Given the description of an element on the screen output the (x, y) to click on. 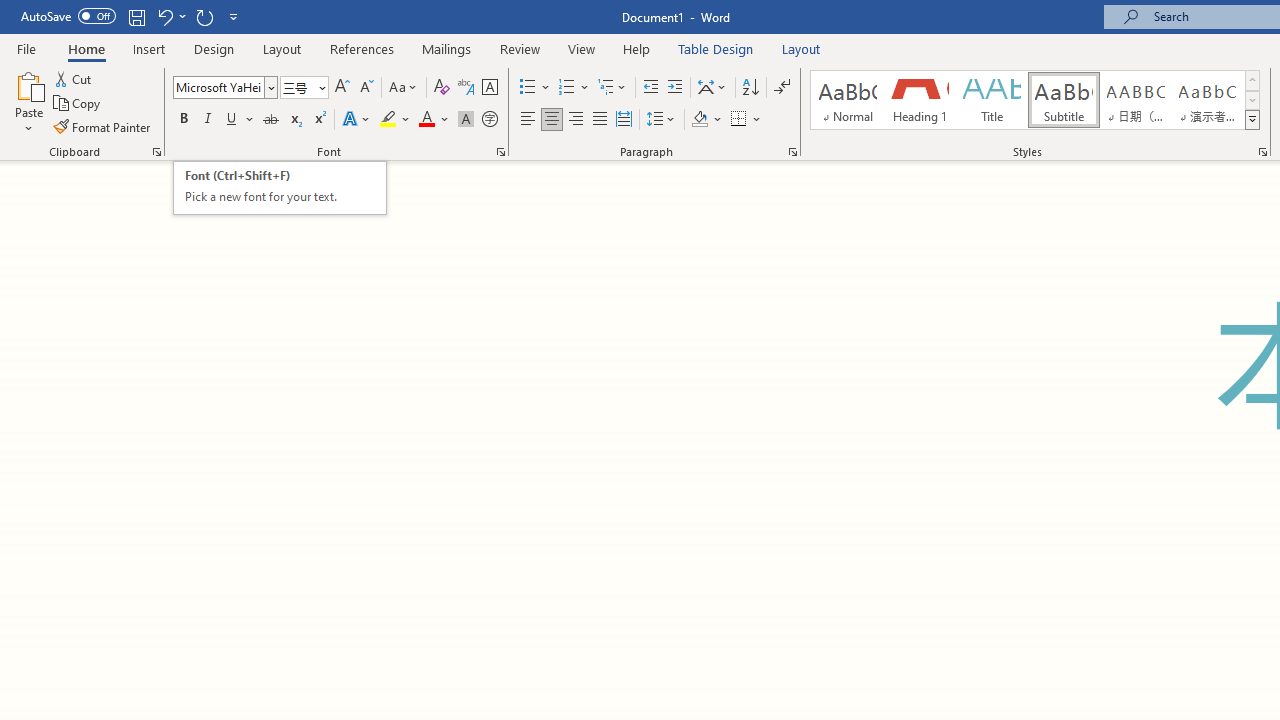
Undo Grow Font (170, 15)
